Given the description of an element on the screen output the (x, y) to click on. 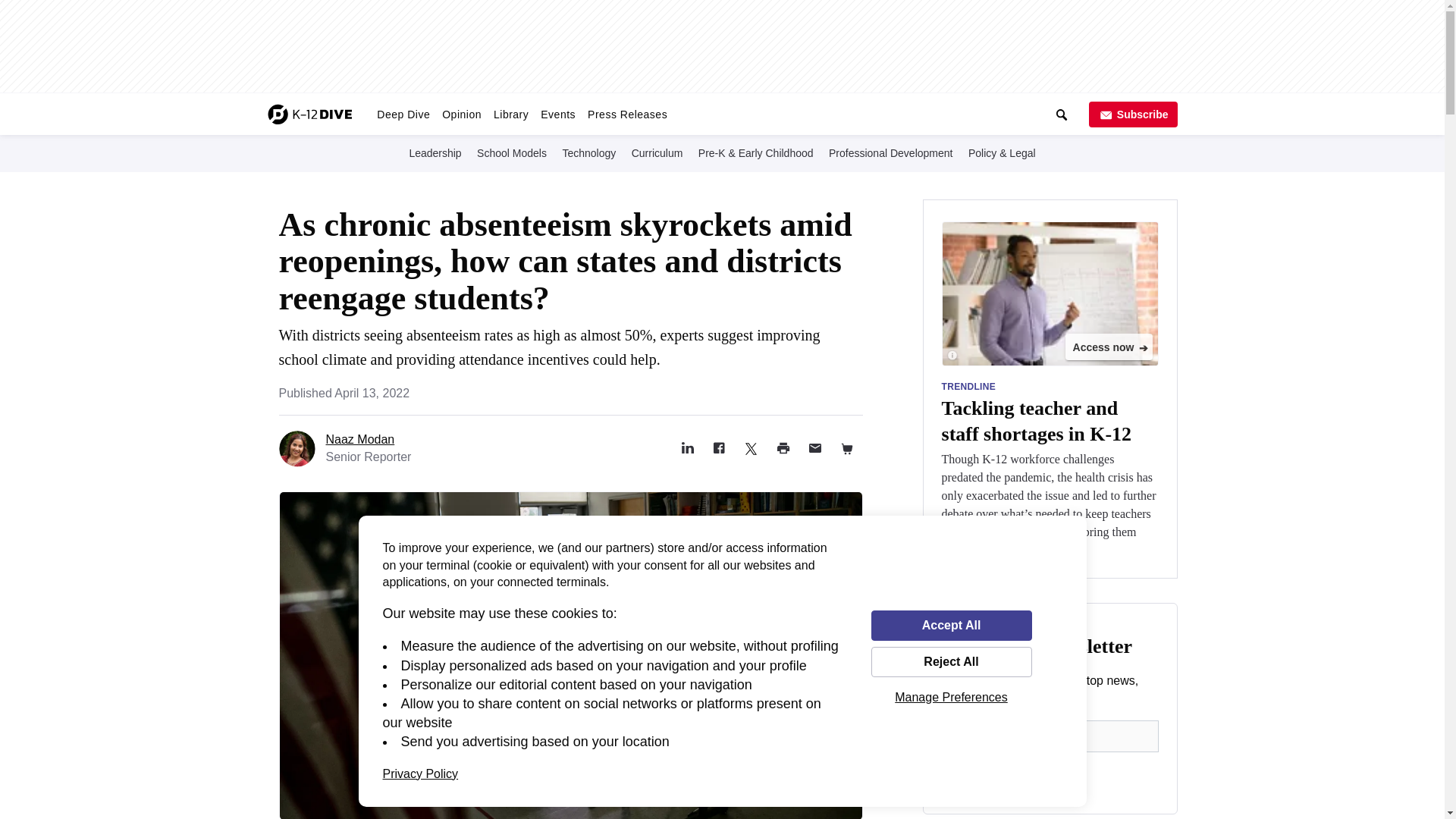
Library (510, 114)
Press Releases (626, 114)
Technology (588, 152)
Leadership (435, 152)
Naaz Modan (360, 439)
Manage Preferences (950, 697)
School Models (512, 152)
Accept All (950, 625)
Professional Development (890, 152)
Reject All (950, 662)
Deep Dive (403, 114)
Subscribe (1132, 114)
Events (557, 114)
Privacy Policy (419, 773)
Opinion (461, 114)
